Given the description of an element on the screen output the (x, y) to click on. 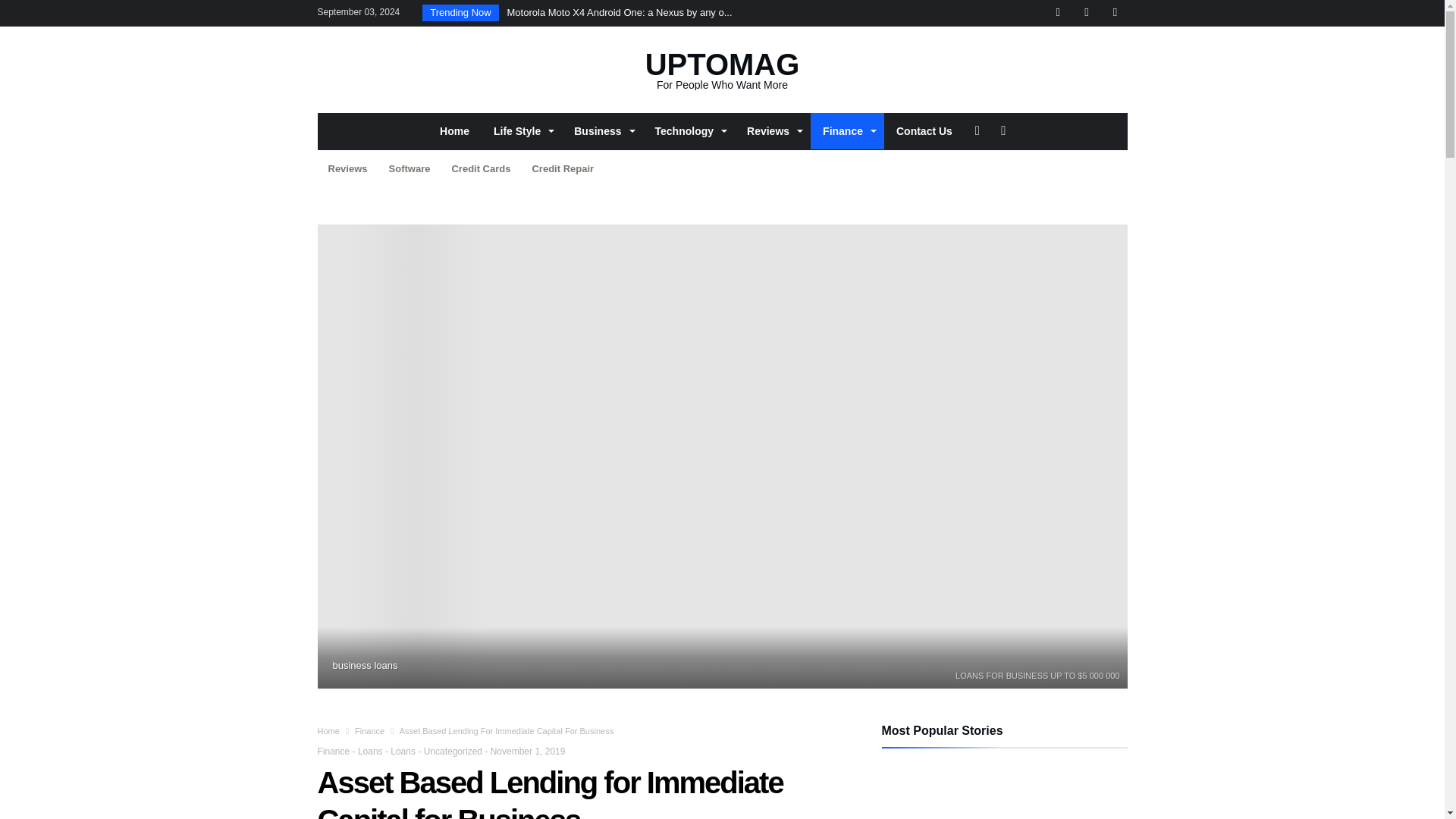
Pinterest (1086, 13)
Twitter (1057, 13)
instagram (1114, 13)
   Motorola Moto X4 Android One: a Nexus by any o... (635, 12)
